Given the description of an element on the screen output the (x, y) to click on. 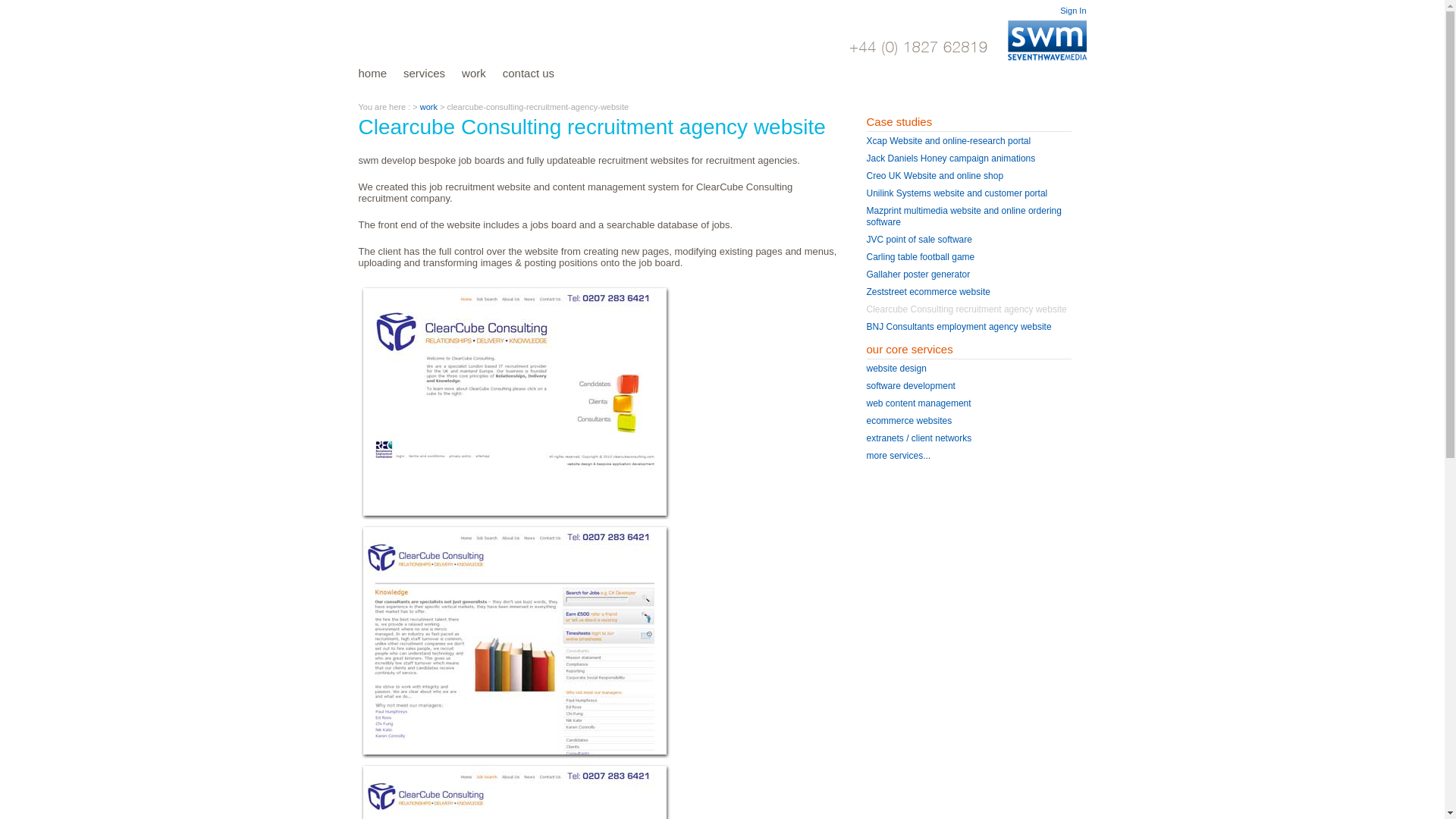
bespoke recruitment agency website (514, 401)
Carling table football game (920, 256)
ecommerce websites (909, 420)
Jack Daniels Honey campaign animations (950, 158)
Zeststreet ecommerce website (928, 291)
bespoke recruitment agency website (514, 640)
Unilink Systems website and customer portal (956, 193)
Xcap Website and online-research portal (948, 140)
BNJ Consultants employment agency website (958, 326)
Creo UK Website and online shop (934, 175)
Clearcube Consulting recruitment agency website (965, 308)
Carling table football game (920, 256)
Mazprint multimedia website and online ordering software (963, 216)
work (481, 72)
services (432, 72)
